Given the description of an element on the screen output the (x, y) to click on. 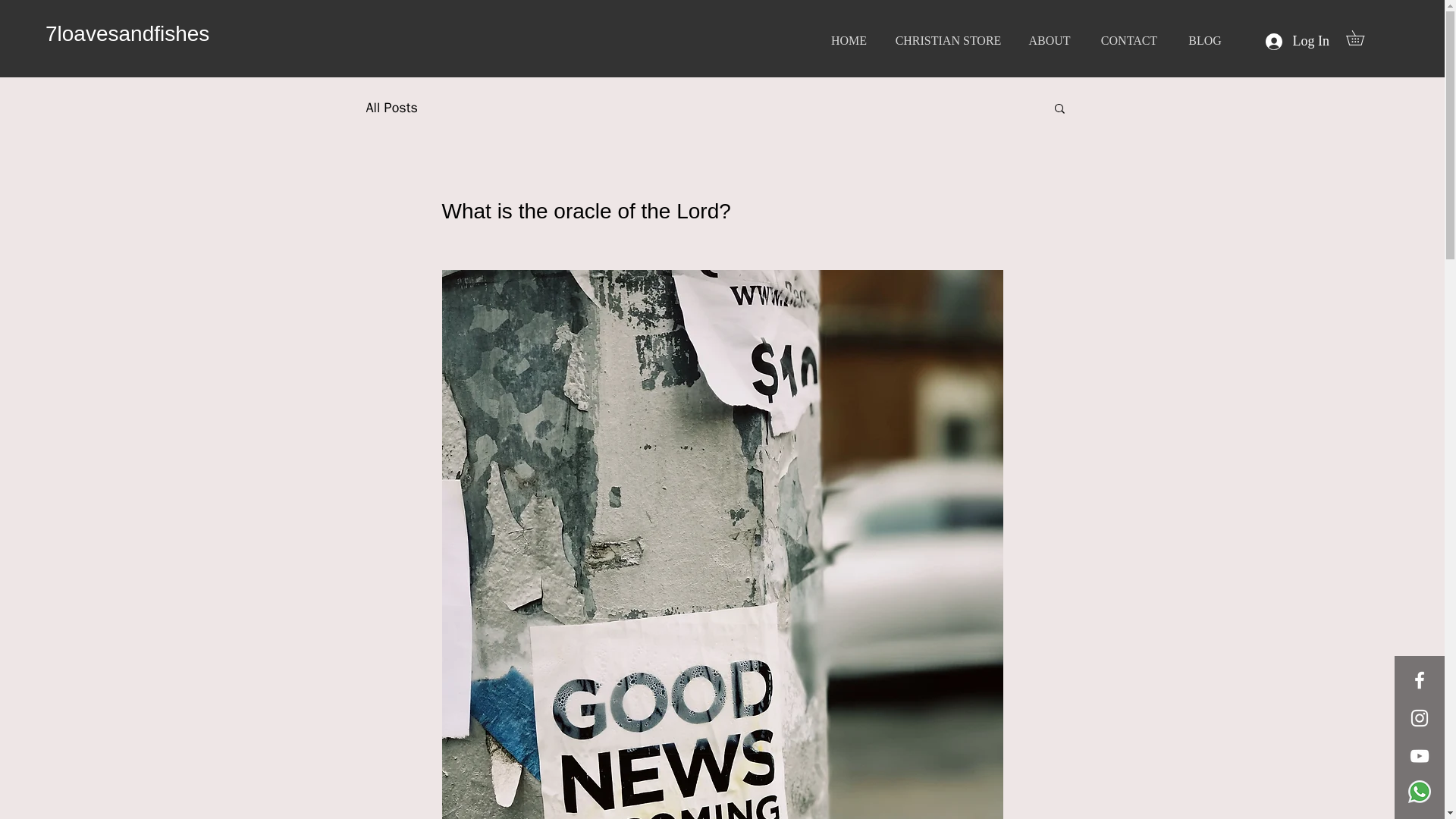
All Posts (390, 107)
BLOG (1204, 40)
CONTACT (1129, 40)
CHRISTIAN STORE (948, 40)
7loavesandfishes (127, 33)
Log In (1296, 41)
HOME (848, 40)
ABOUT (1049, 40)
